Given the description of an element on the screen output the (x, y) to click on. 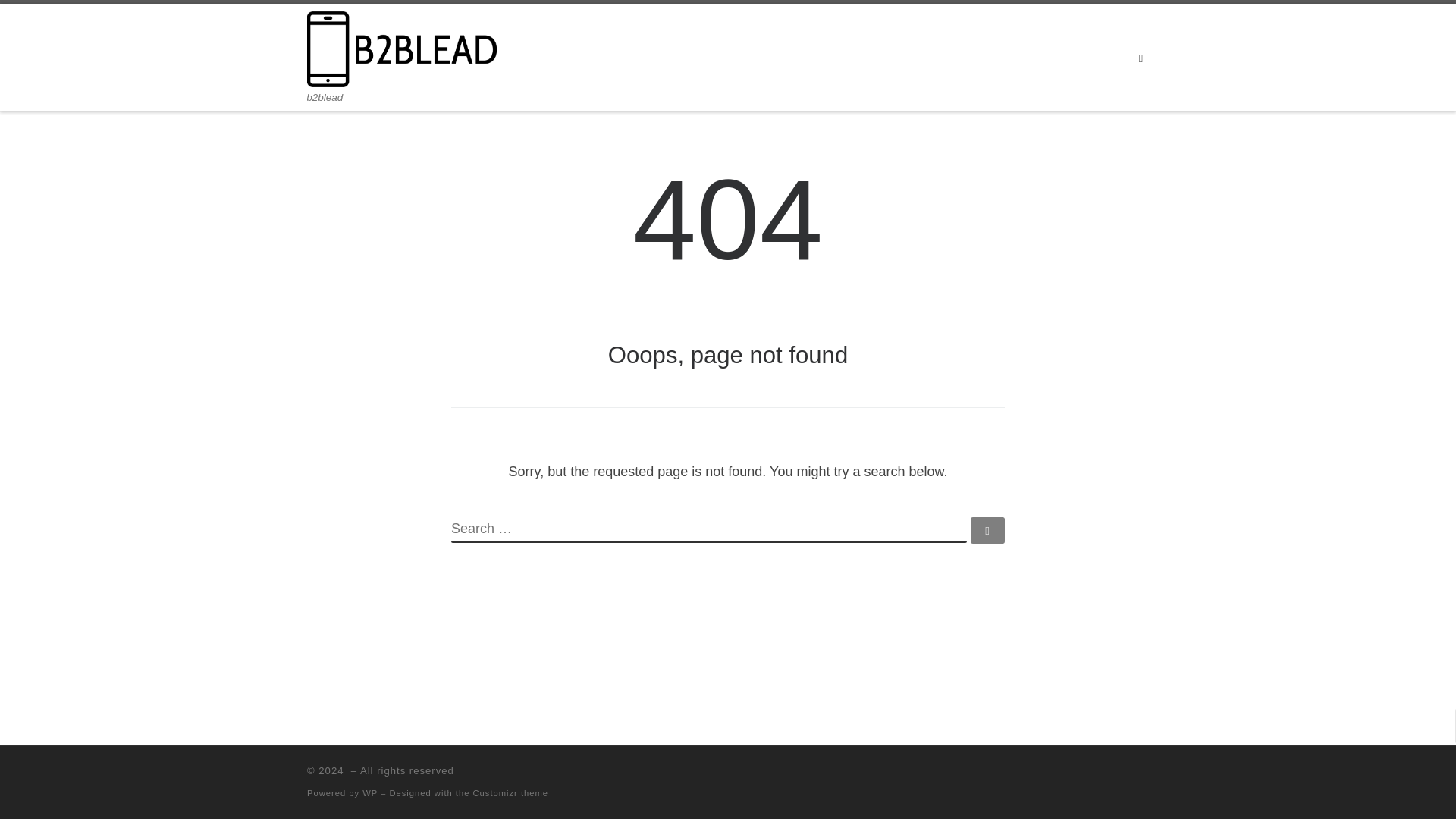
Customizr theme (510, 792)
Skip to content (60, 20)
WP (369, 792)
Customizr theme (510, 792)
Powered by WordPress (369, 792)
